Given the description of an element on the screen output the (x, y) to click on. 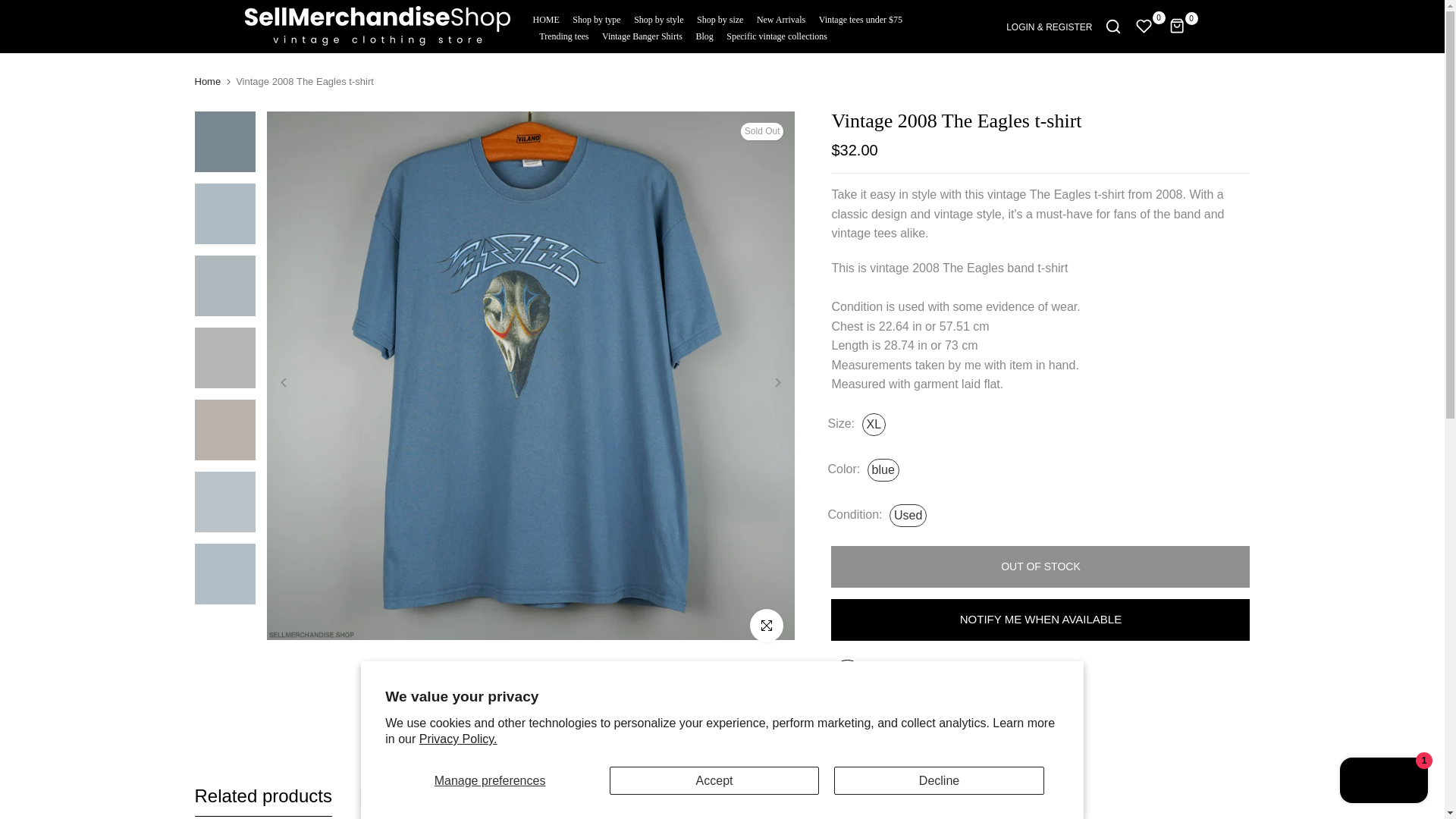
Share on Pinterest (938, 717)
Share on Twitter (911, 717)
Shopify online store chat (1383, 781)
Accept (714, 780)
Specific vintage collections (773, 35)
Share on WhatsApp (994, 717)
Share on Telegram (966, 717)
HOME (549, 18)
Skip to content (10, 7)
Shop by style (658, 18)
Decline (938, 780)
Manage preferences (489, 780)
Shop by size (719, 18)
New Arrivals (780, 18)
Share on Facebook (885, 717)
